Given the description of an element on the screen output the (x, y) to click on. 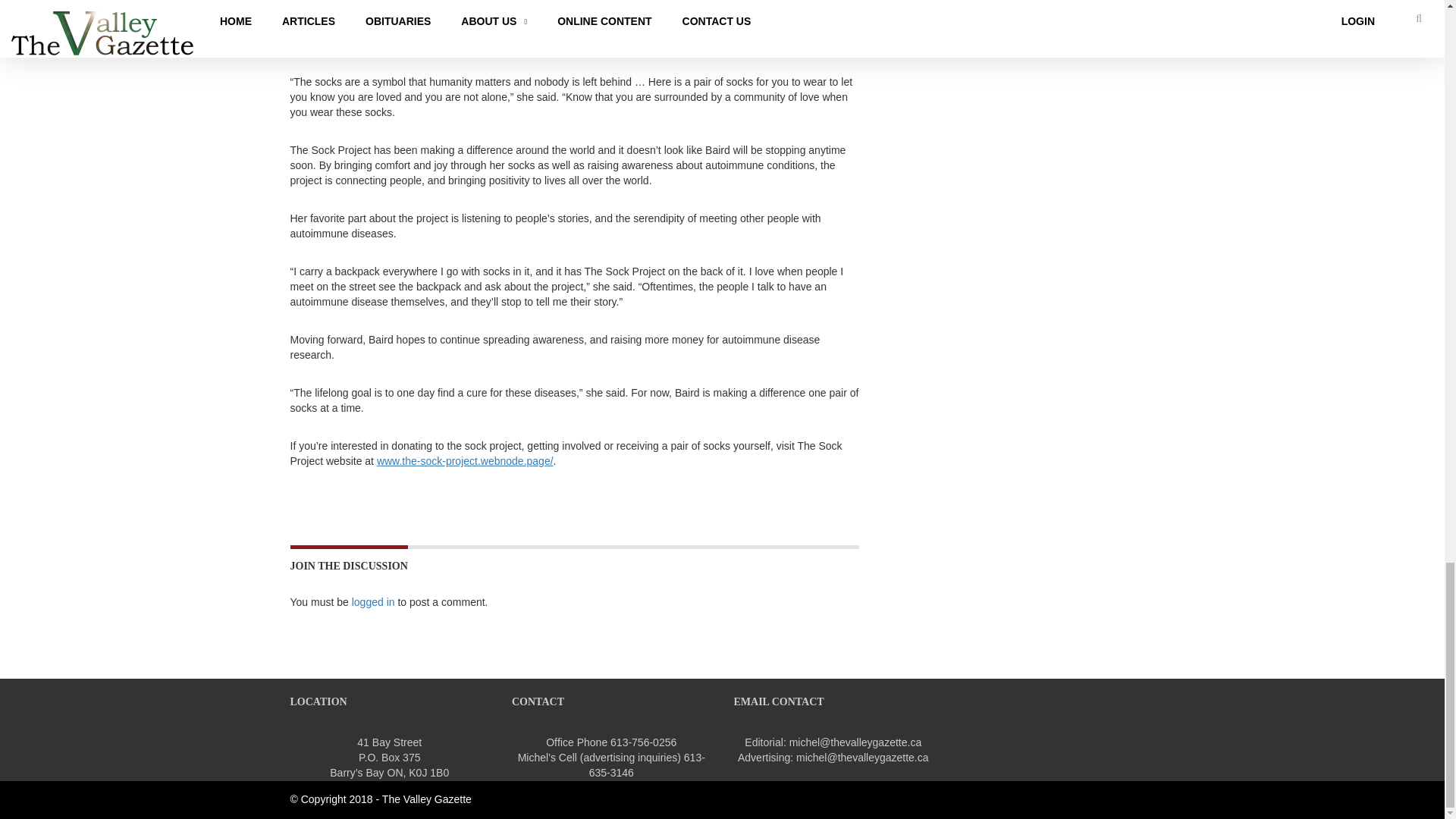
logged in (373, 602)
